Given the description of an element on the screen output the (x, y) to click on. 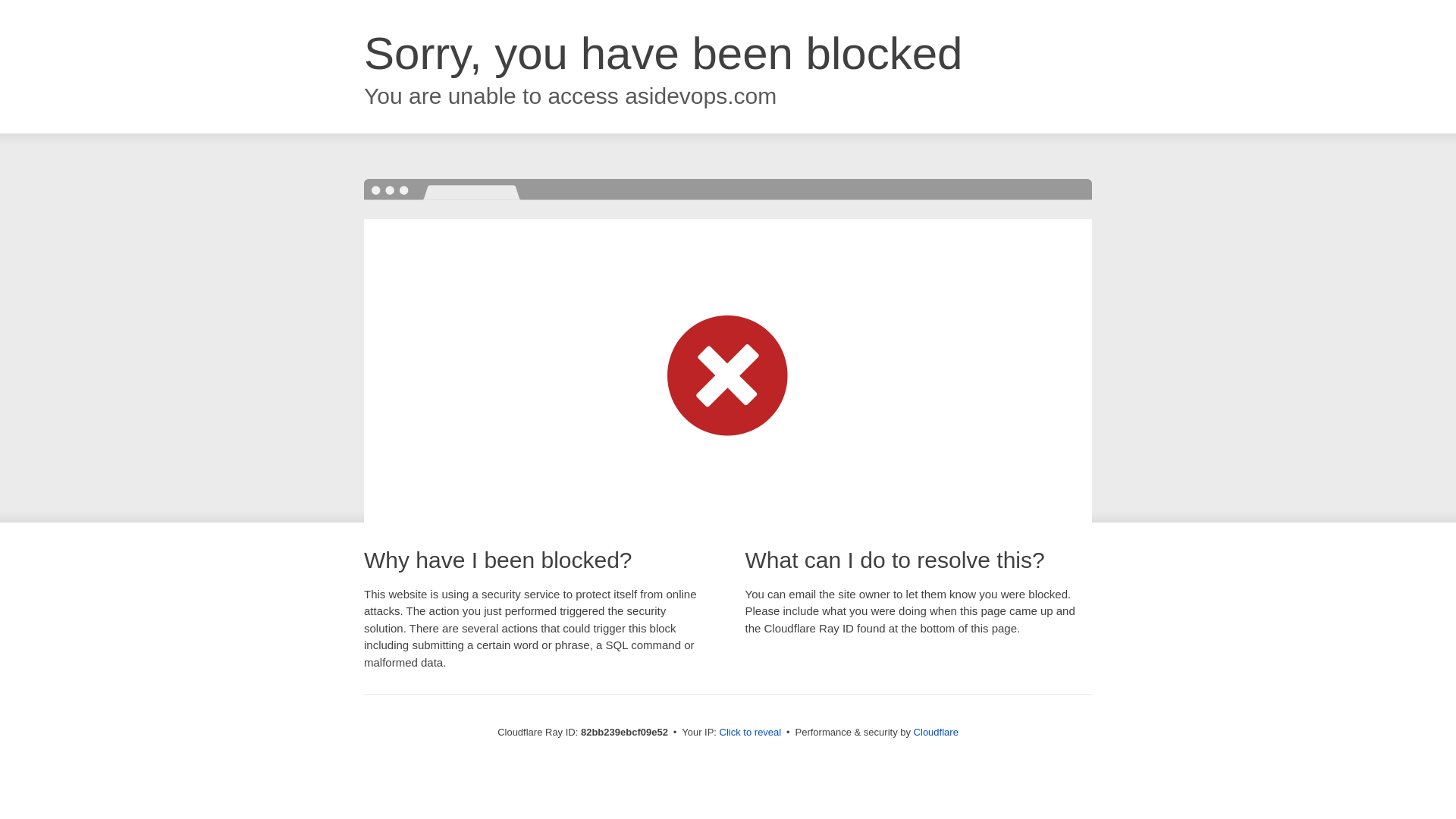
Click to reveal Element type: text (750, 732)
Cloudflare Element type: text (935, 731)
